Given the description of an element on the screen output the (x, y) to click on. 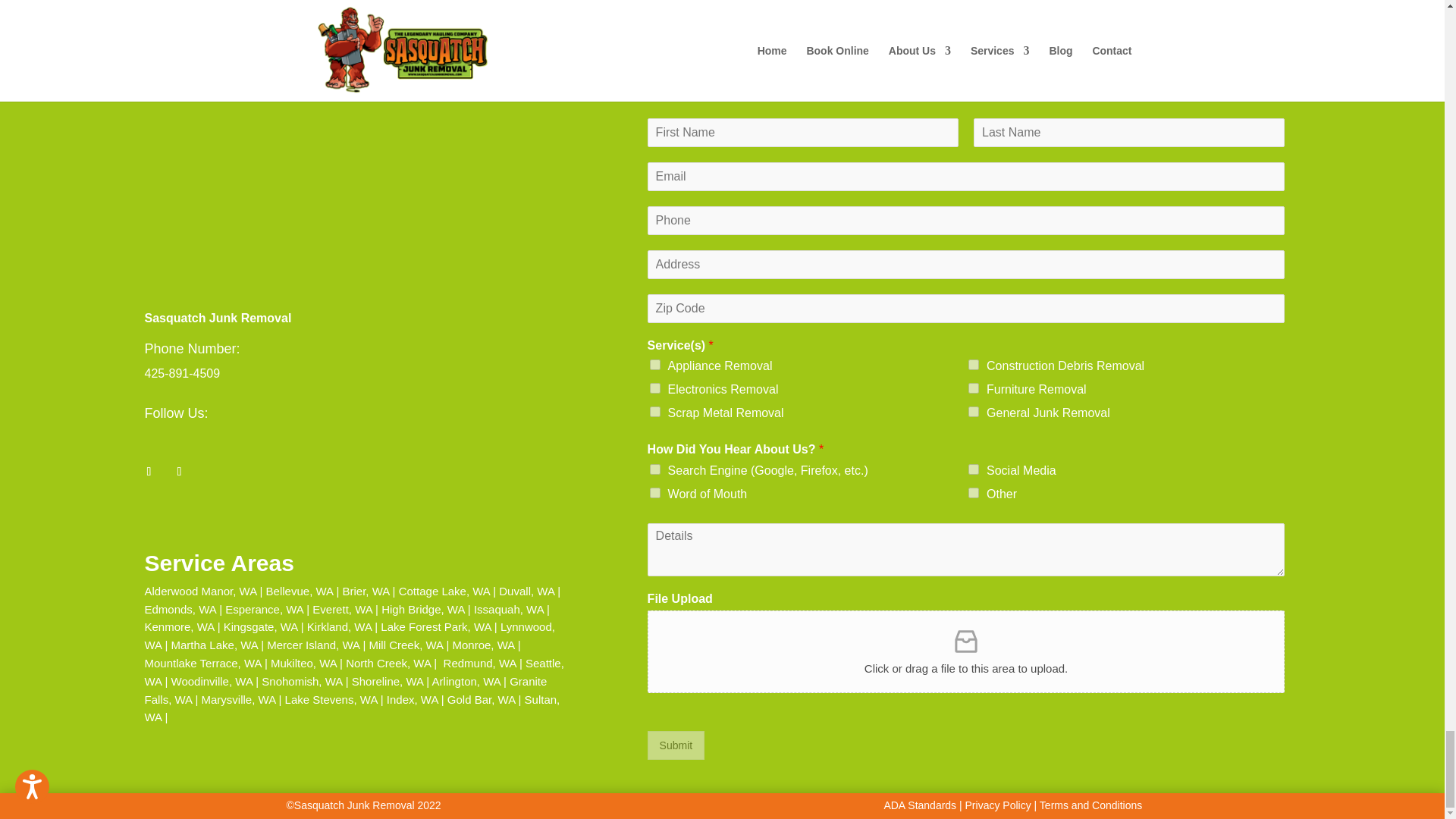
Furniture Removal (973, 388)
Cottage Lake, WA (443, 590)
Appliance Removal (655, 364)
Construction Debris Removal (973, 364)
Brier, WA (365, 590)
Alderwood Manor, WA (200, 590)
Word of Mouth (655, 492)
Scrap Metal Removal (655, 411)
Social Media (973, 469)
Other (973, 492)
